Given the description of an element on the screen output the (x, y) to click on. 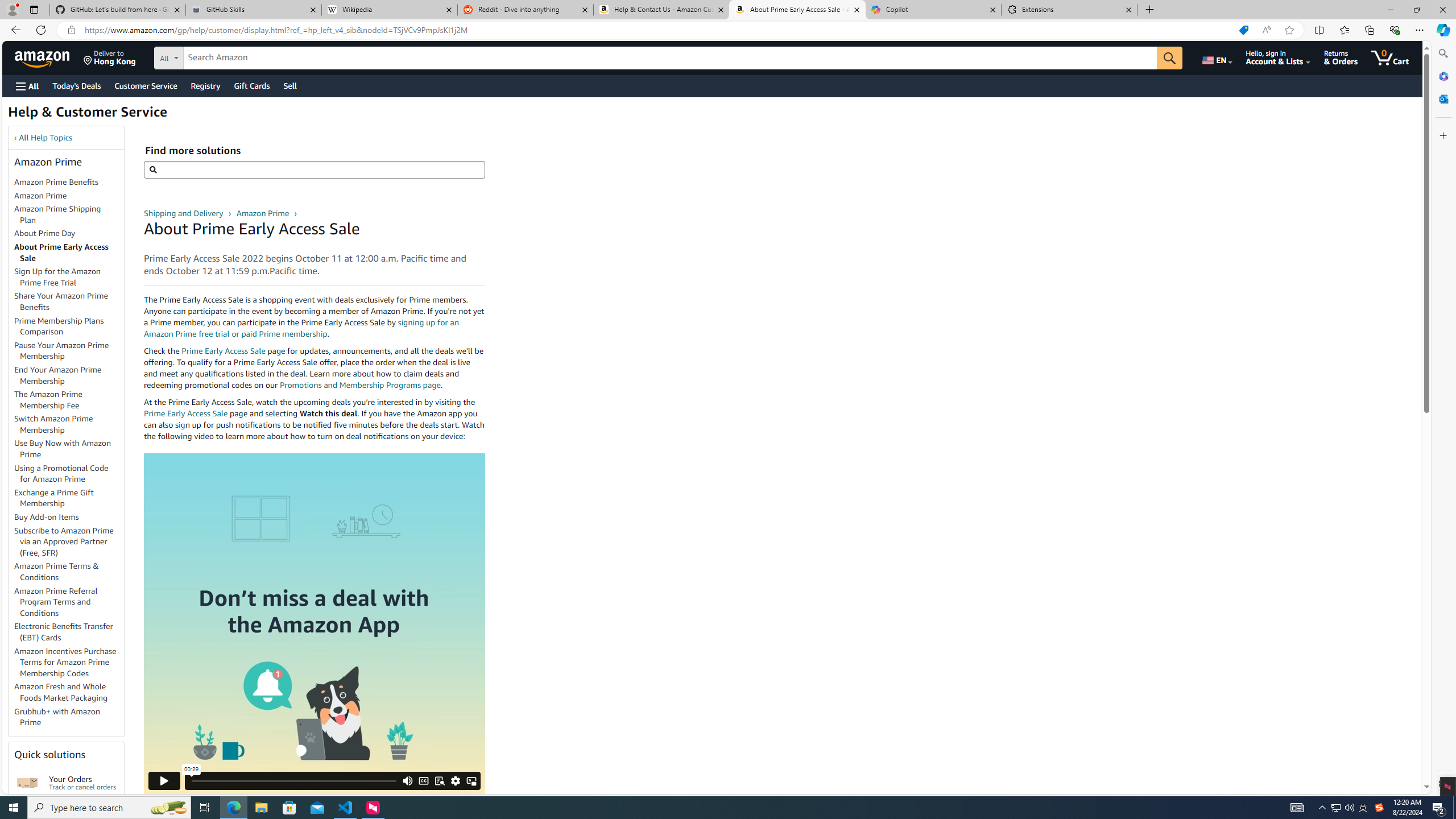
Deliver to Hong Kong (109, 57)
Grubhub+ with Amazon Prime (68, 716)
Your Orders (27, 782)
Choose a language for shopping. (1216, 57)
Buy Add-on Items (46, 516)
Amazon Prime Terms & Conditions (56, 571)
About Prime Day (44, 233)
The Amazon Prime Membership Fee (48, 399)
End Your Amazon Prime Membership (68, 375)
